Given the description of an element on the screen output the (x, y) to click on. 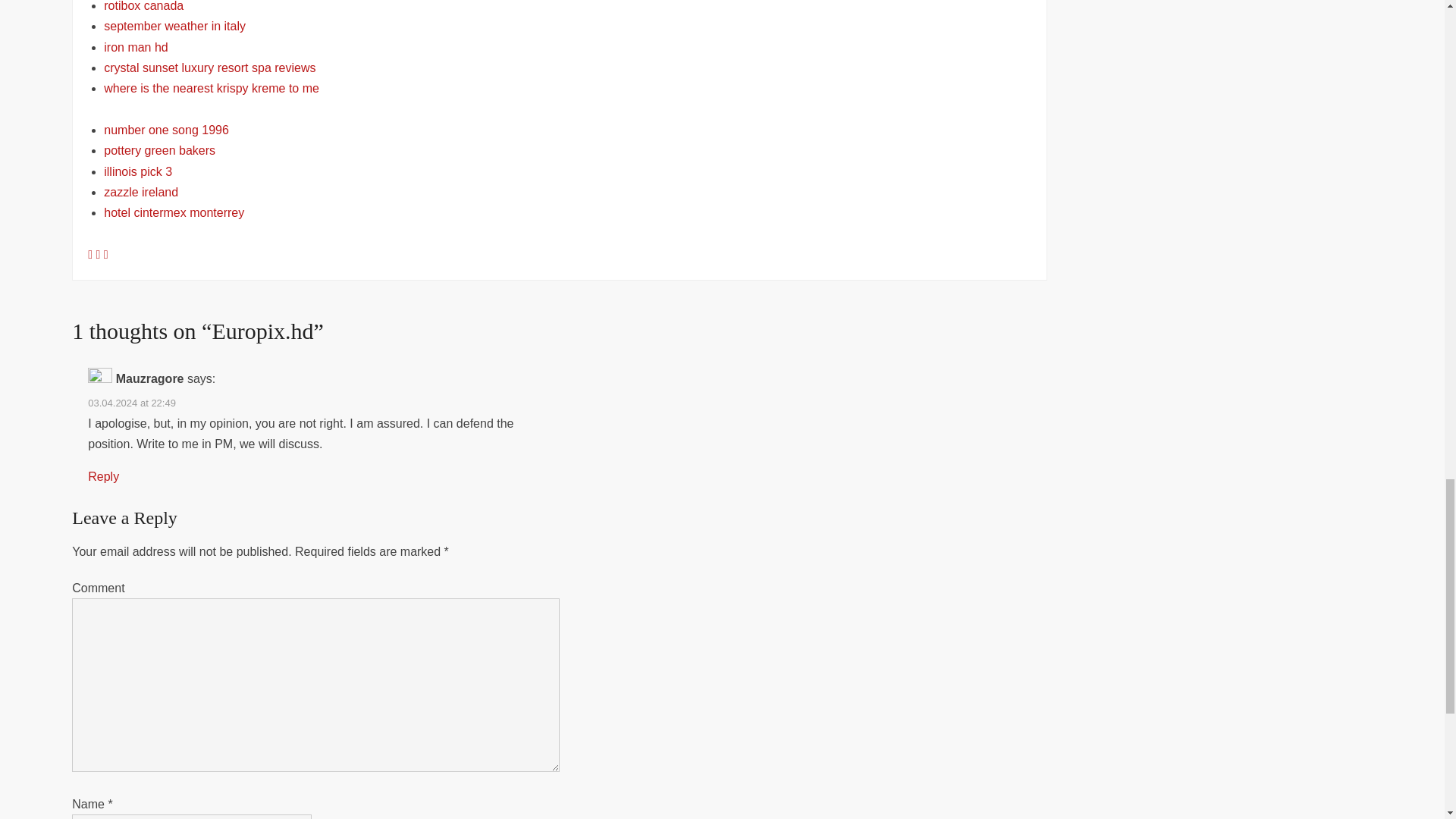
zazzle ireland (140, 192)
03.04.2024 at 22:49 (131, 402)
rotibox canada (143, 6)
pottery green bakers (159, 150)
Vkontakte-cunning crossword clue (99, 254)
Reply (103, 476)
where is the nearest krispy kreme to me (210, 88)
hotel cintermex monterrey (173, 212)
crystal sunset luxury resort spa reviews (209, 67)
illinois pick 3 (137, 171)
number one song 1996 (165, 129)
Facebook-delish dining calgary (91, 254)
Twitter-proteus download full version for free (105, 254)
september weather in italy (174, 25)
iron man hd (135, 47)
